Given the description of an element on the screen output the (x, y) to click on. 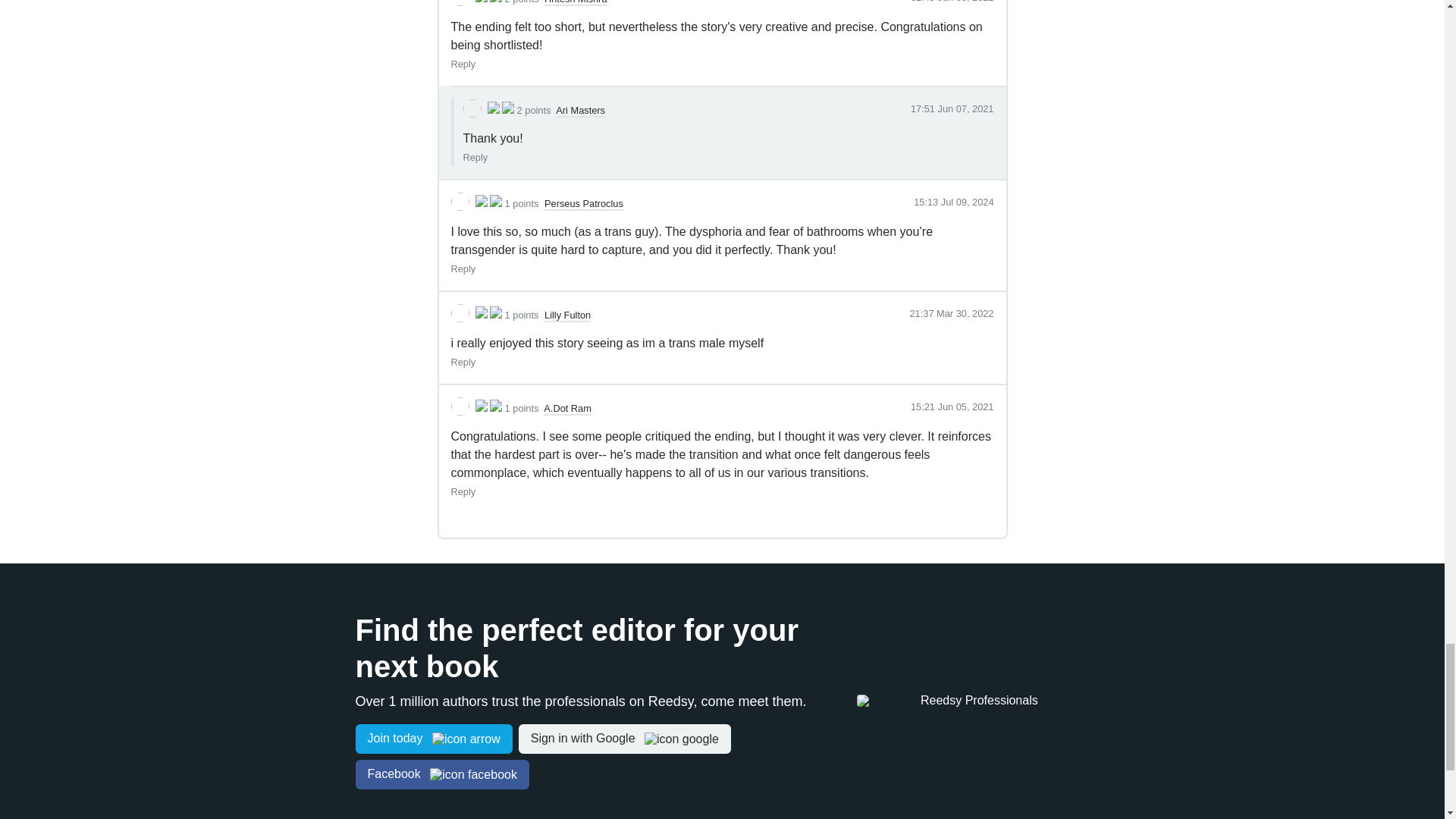
Sign in with Google (624, 738)
Sign up (433, 738)
Sign in with Facebook (441, 774)
